Given the description of an element on the screen output the (x, y) to click on. 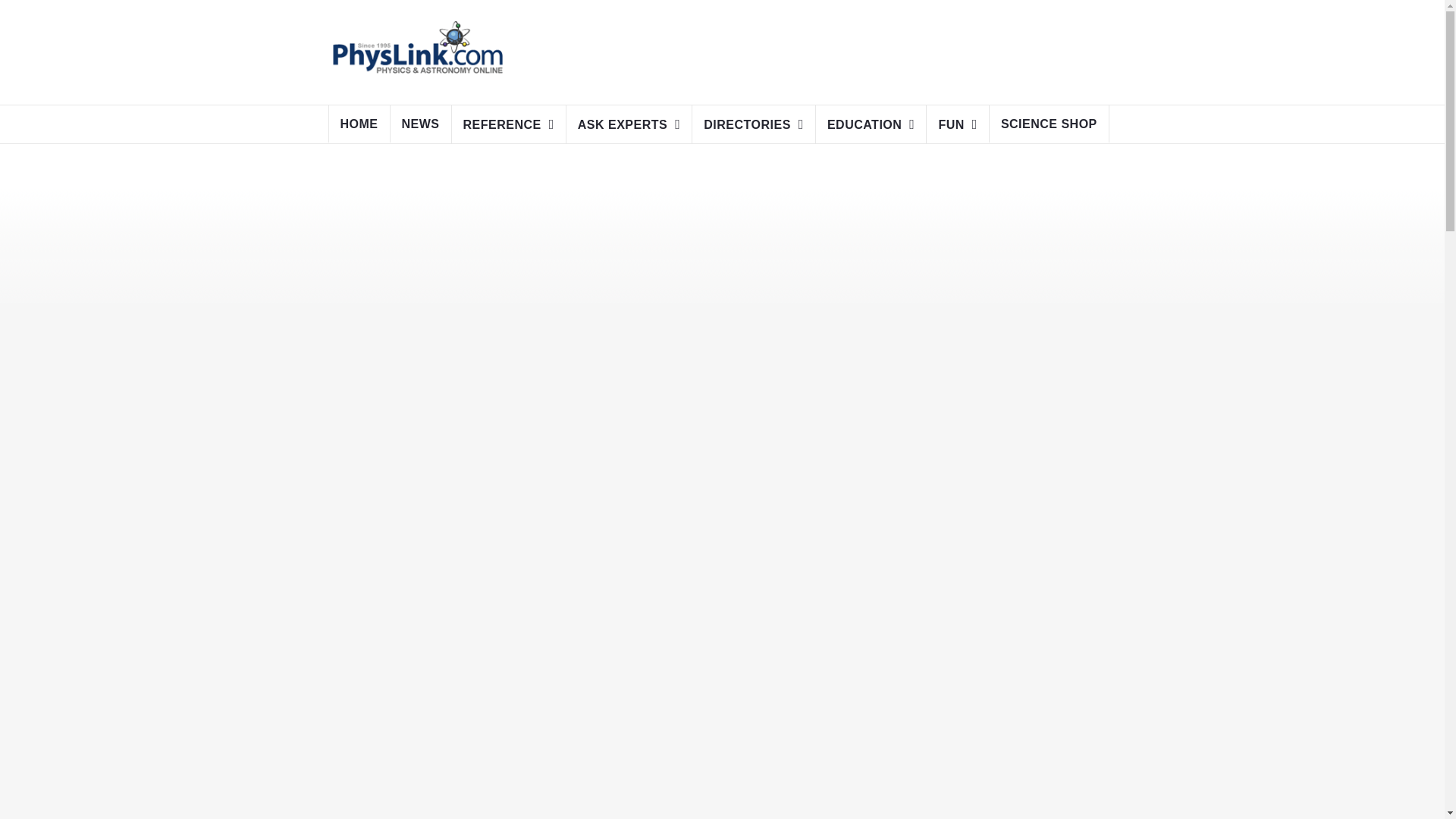
ASK EXPERTS (629, 124)
NEWS (419, 124)
Advertisement (807, 49)
DIRECTORIES (754, 124)
HOME (359, 124)
REFERENCE (508, 124)
